Given the description of an element on the screen output the (x, y) to click on. 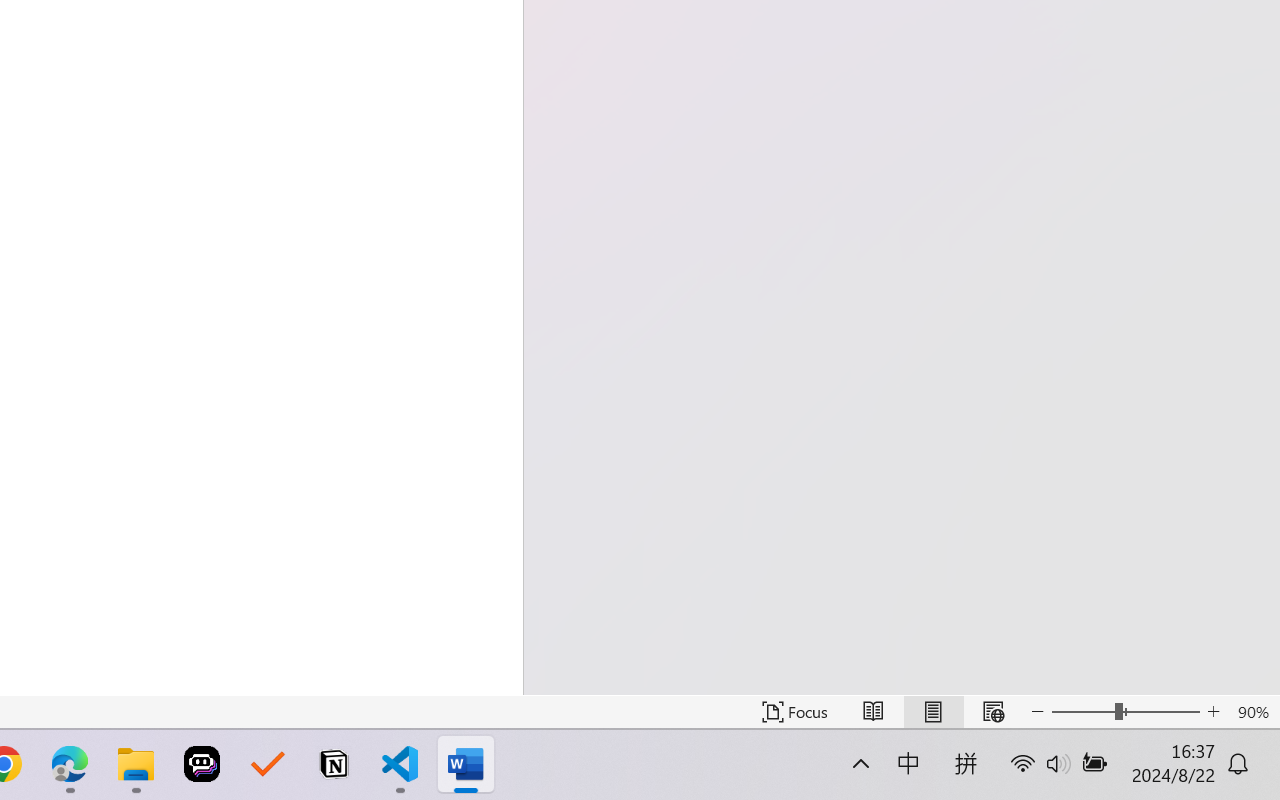
Zoom 90% (1253, 712)
